Given the description of an element on the screen output the (x, y) to click on. 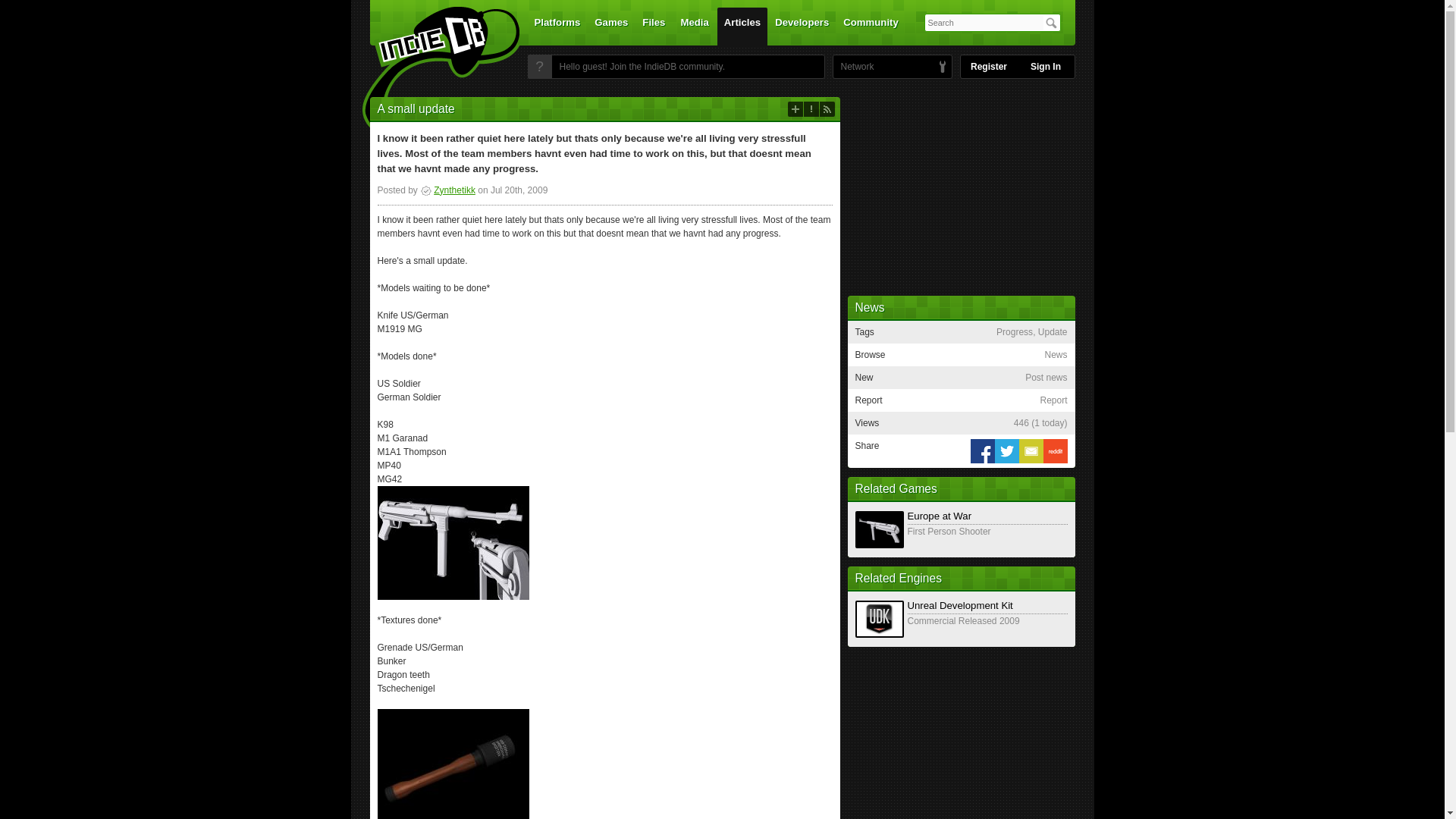
Platforms (557, 26)
Search (1050, 22)
Files (652, 26)
Report (810, 109)
Join IndieDB (539, 66)
Articles (742, 26)
Post news (794, 109)
Home (430, 70)
Community (870, 26)
Developers (801, 26)
DBolical (852, 66)
MP40 - Mod DB (453, 542)
Games (611, 26)
Article Manager (448, 190)
RSS (826, 109)
